Given the description of an element on the screen output the (x, y) to click on. 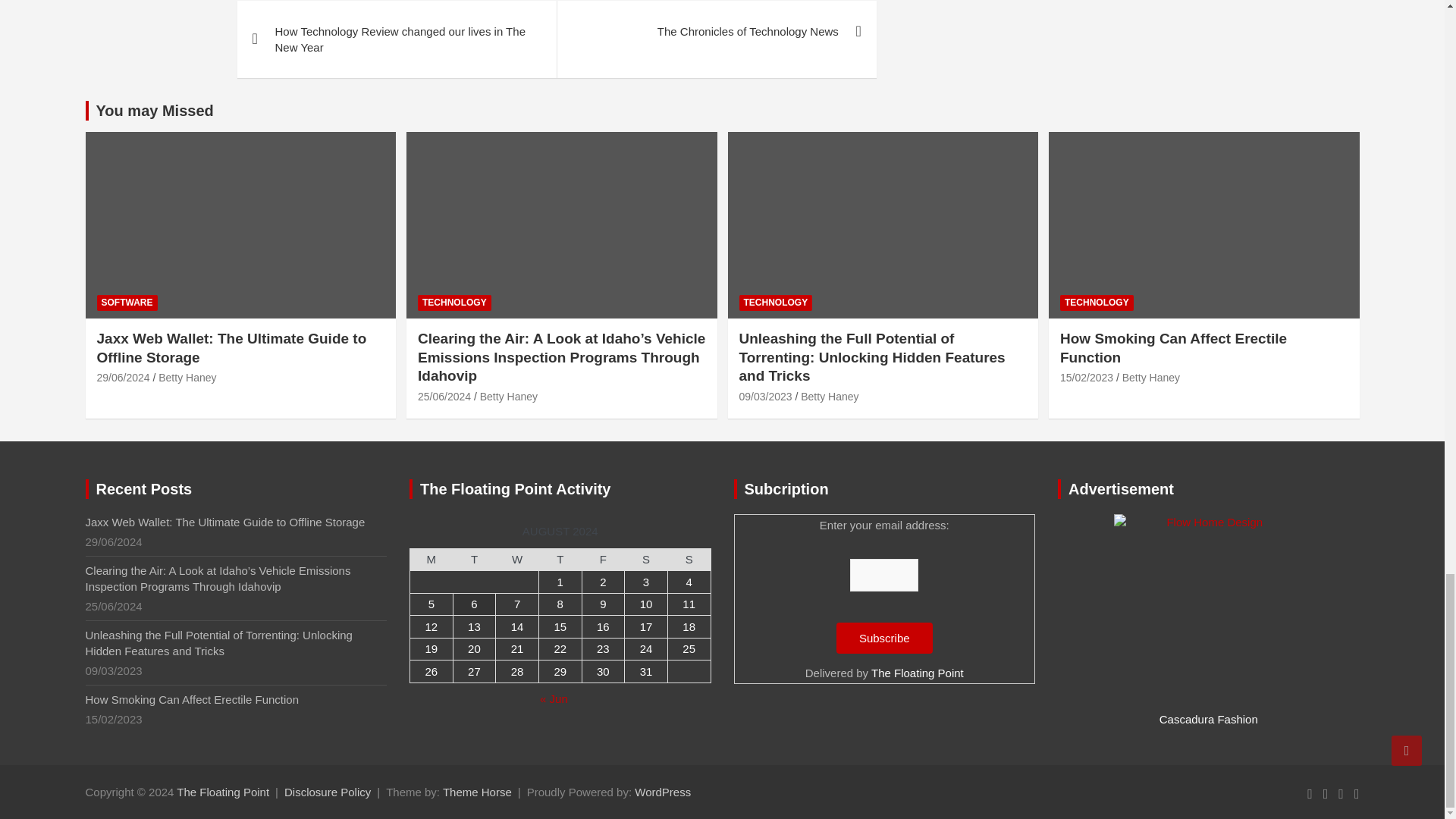
Wednesday (517, 558)
Subscribe (884, 637)
The Chronicles of Technology News (716, 31)
Thursday (559, 558)
Jaxx Web Wallet: The Ultimate Guide to Offline Storage (123, 377)
How Technology Review changed our lives in The New Year (395, 38)
Monday (430, 558)
How Smoking Can Affect Erectile Function (1086, 377)
Tuesday (474, 558)
